Given the description of an element on the screen output the (x, y) to click on. 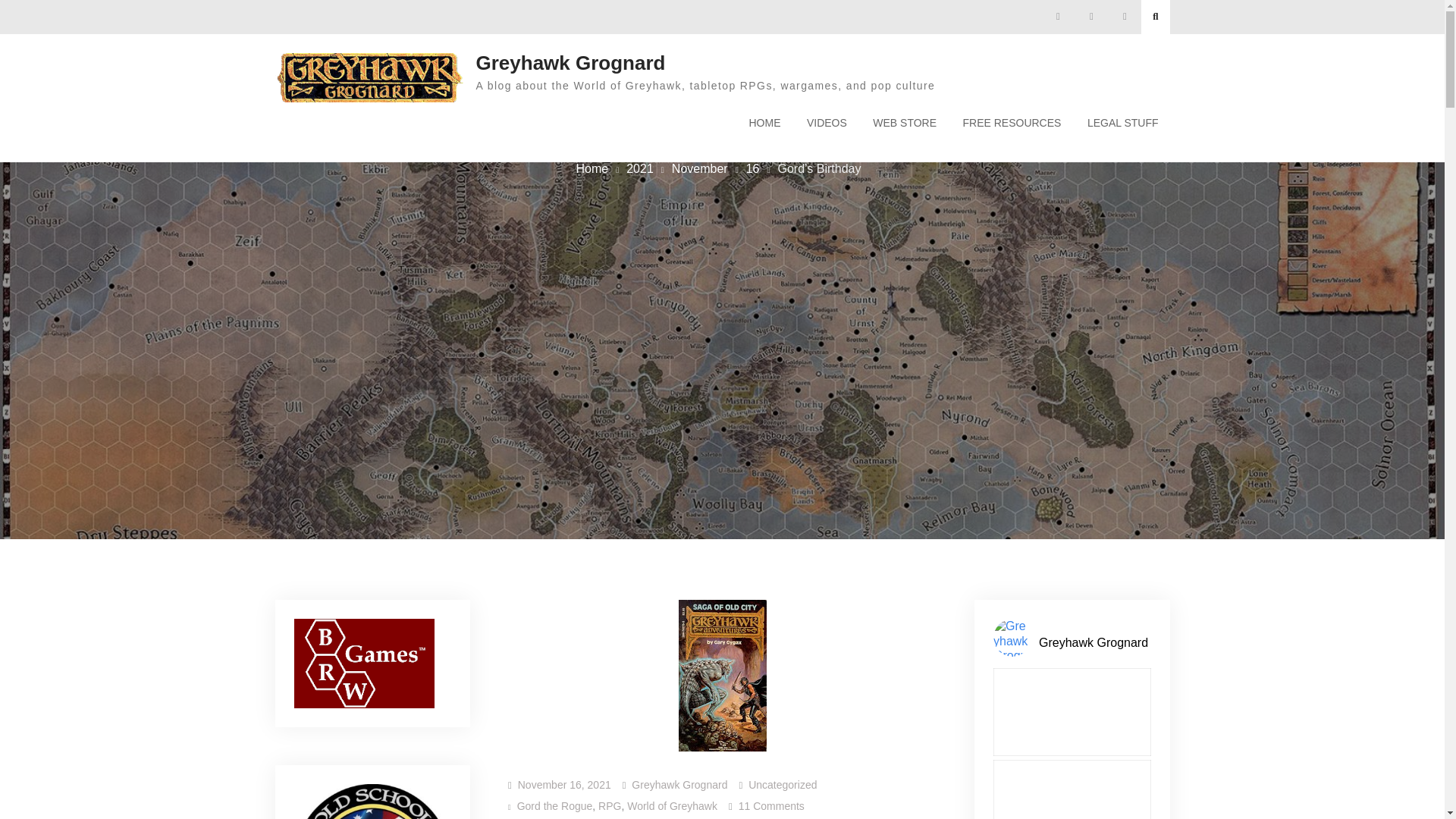
November 16, 2021 (564, 784)
HOME (764, 123)
World of Greyhawk (672, 806)
November (699, 168)
LEGAL STUFF (1122, 123)
Gord the Rogue (554, 806)
Greyhawk Grognard (570, 62)
Greyhawk Grognard (678, 784)
Uncategorized (782, 784)
Home (592, 168)
VIDEOS (826, 123)
2021 (639, 168)
RPG (609, 806)
16 (752, 168)
